Given the description of an element on the screen output the (x, y) to click on. 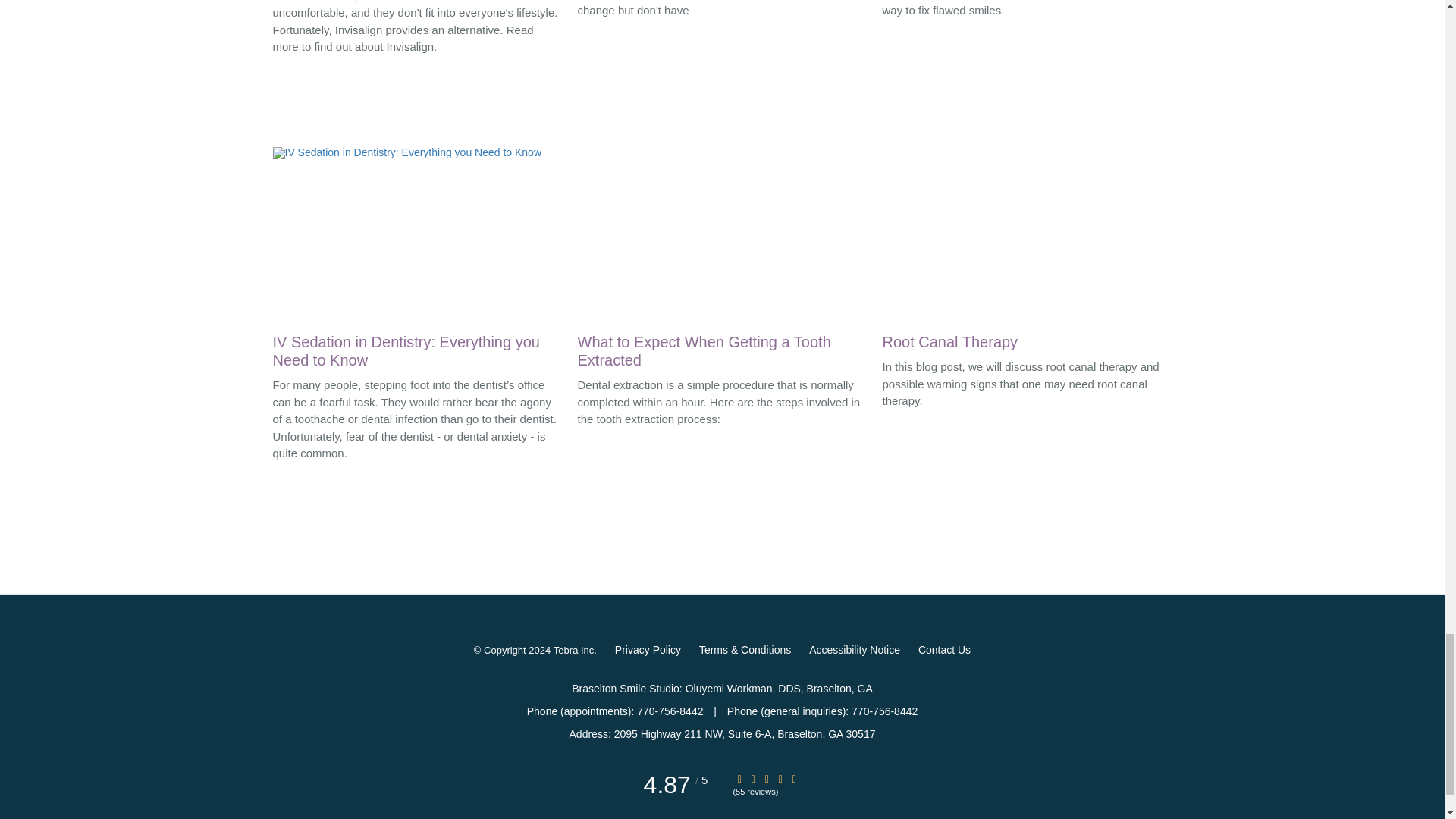
Star Rating (766, 778)
Star Rating (794, 778)
Star Rating (753, 778)
Star Rating (738, 778)
Star Rating (780, 778)
